Given the description of an element on the screen output the (x, y) to click on. 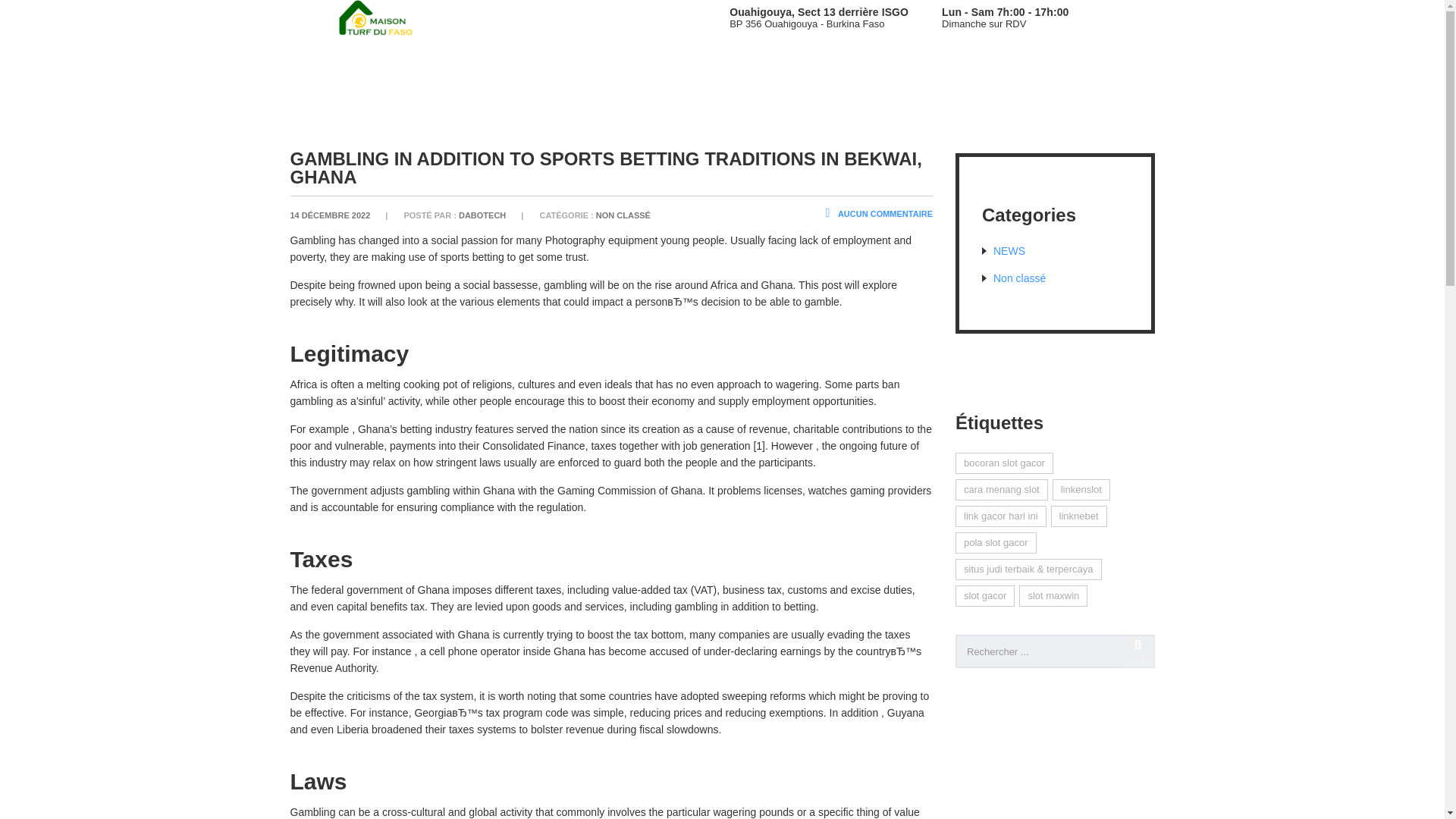
CONTACTEZ-NOUS (714, 60)
bocoran slot gacor (1003, 463)
NOS SERVICES (139, 60)
slot gacor (984, 595)
E-BOUTIQUE (462, 60)
linkenslot (1080, 489)
cara menang slot (1001, 489)
ACCUEIL (45, 60)
link gacor hari ini (1000, 516)
pola slot gacor (995, 542)
